Given the description of an element on the screen output the (x, y) to click on. 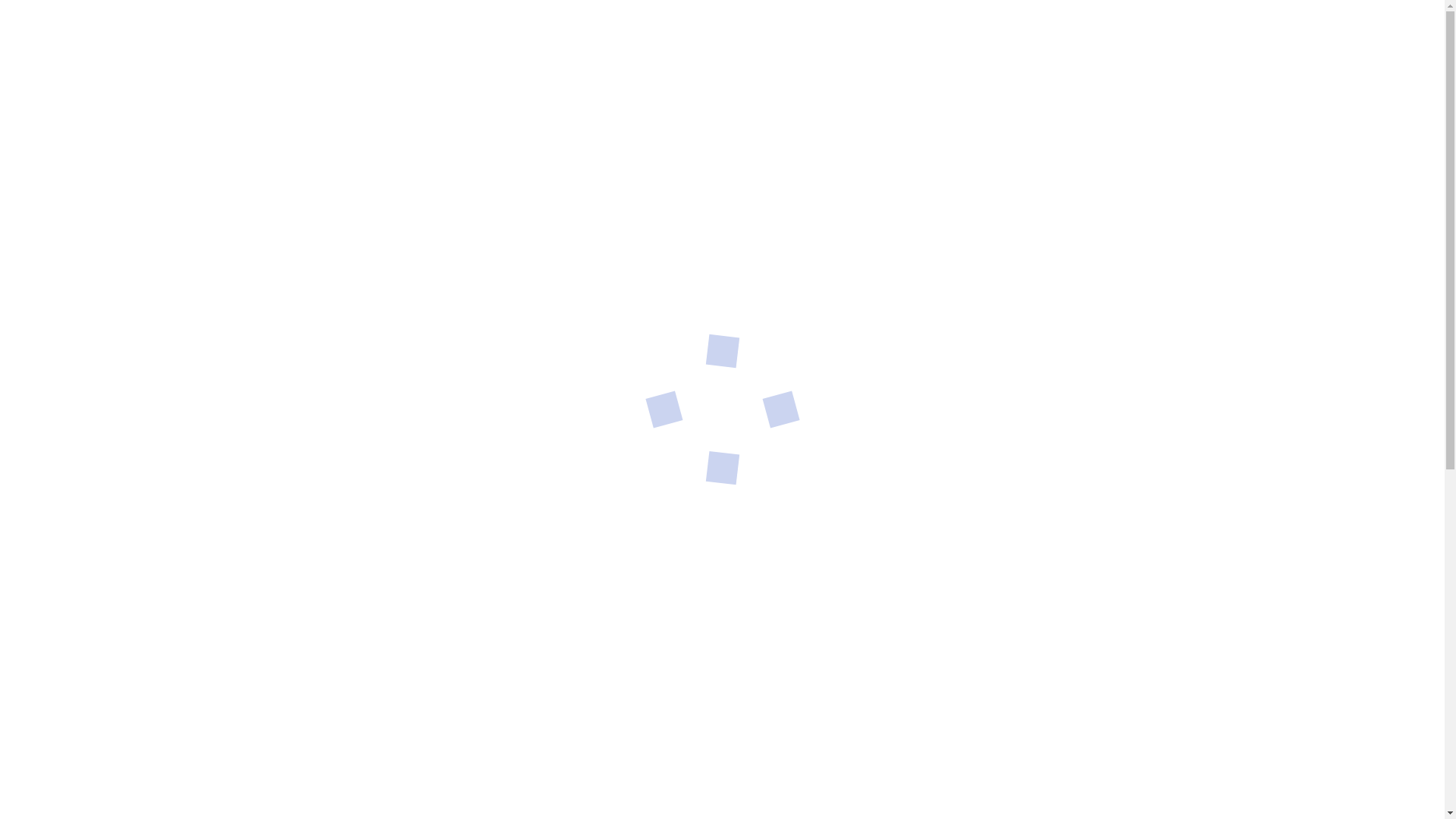
WEB TEAM Element type: text (481, 485)
www.fmeri.gov.ba Element type: text (603, 705)
ZAKONI Element type: text (427, 18)
ENGLISH SOON Element type: text (1118, 18)
  Element type: text (1043, 18)
KONTAKTI Element type: text (1050, 161)
NOVOSTI Element type: text (542, 161)
USLUGE Element type: text (470, 161)
O KOMORI Element type: text (396, 161)
info@pkzedo.ba Element type: text (790, 90)
PUBLIKACIJE Element type: text (707, 161)
LINKOVI Element type: text (487, 18)
20.06.2022. Element type: text (405, 485)
REGISTAR Element type: text (619, 161)
SAJMOVI Element type: text (364, 18)
KARTA Element type: text (305, 18)
OBRAZOVANJE Element type: text (955, 161)
NOVOSTI | NEWS Element type: text (318, 485)
